Given the description of an element on the screen output the (x, y) to click on. 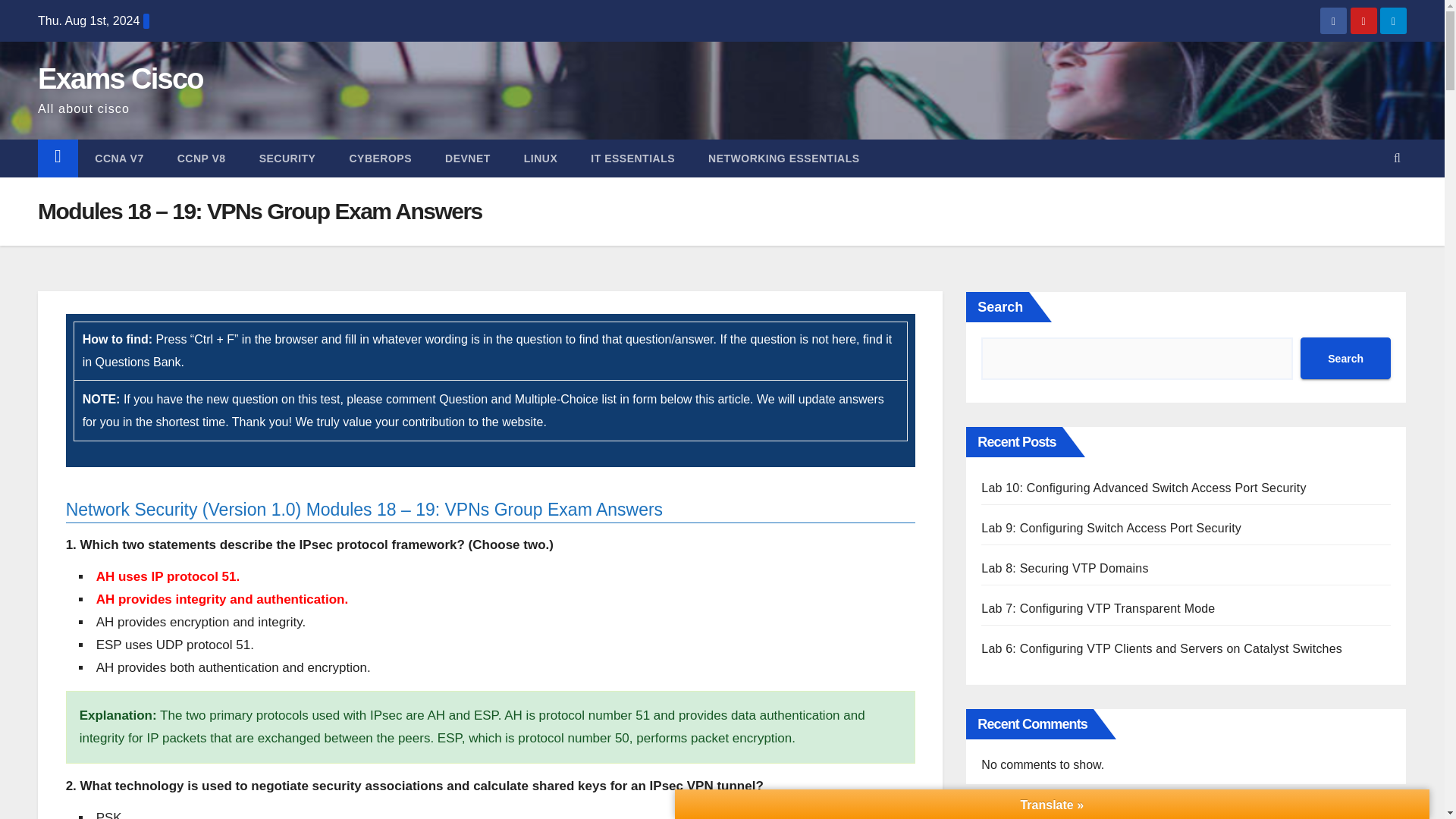
CCNA V7 (119, 158)
Lab 7: Configuring VTP Transparent Mode (1097, 608)
CyberOps (379, 158)
Exams Cisco (120, 79)
Lab 8: Securing VTP Domains (1064, 567)
DevNet (467, 158)
Search (1345, 358)
NETWORKING ESSENTIALS (783, 158)
Lab 9: Configuring Switch Access Port Security (1111, 527)
LINUX (540, 158)
CCNP v8 (201, 158)
SECURITY (288, 158)
Security (288, 158)
CCNP V8 (201, 158)
Linux (540, 158)
